Given the description of an element on the screen output the (x, y) to click on. 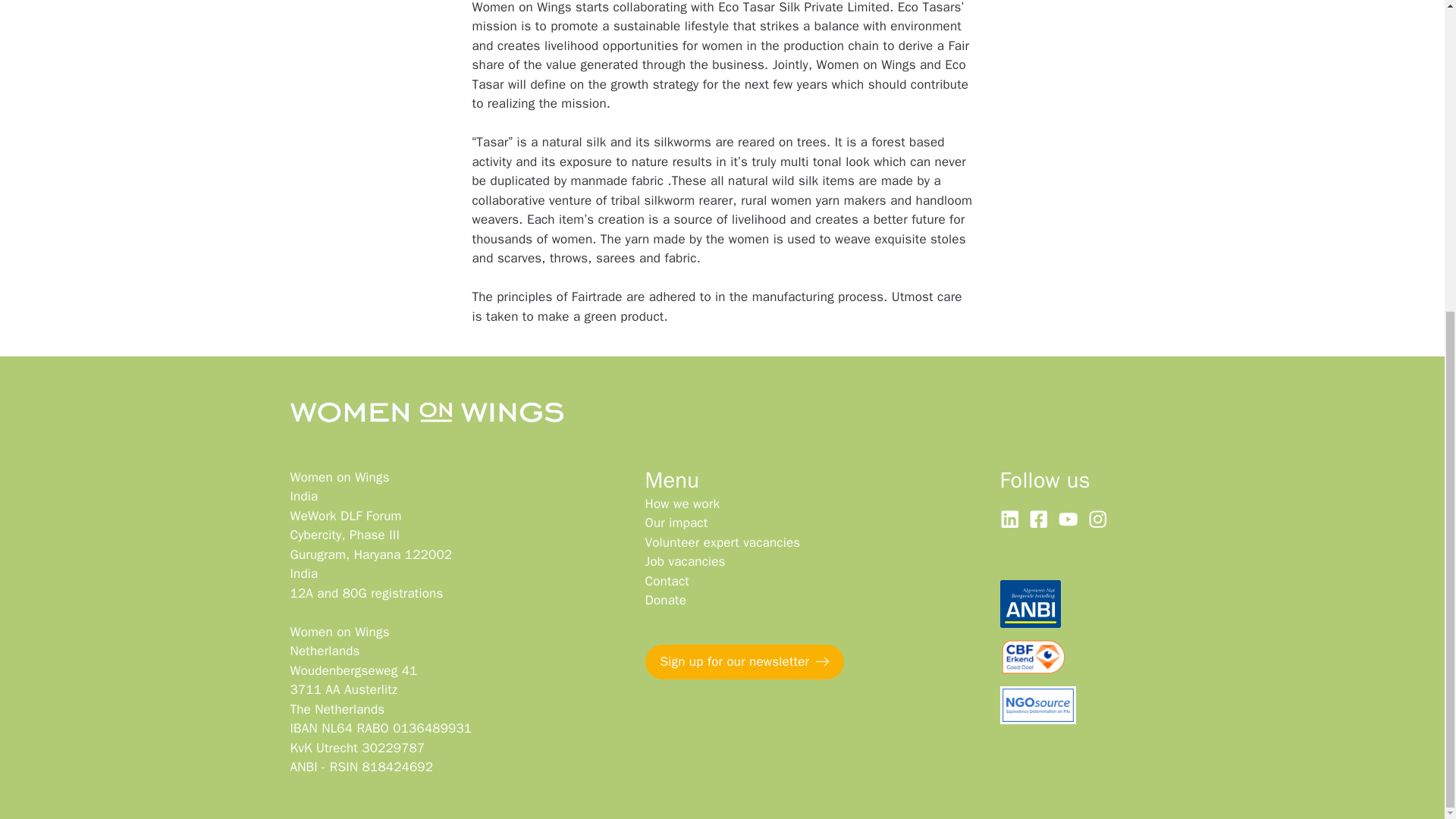
Contact (666, 580)
3-Arrow Right (821, 661)
ED-on-file-badge (1036, 704)
Our impact (676, 522)
anbi-algemeen-nut-beogende-instelling (1028, 603)
How we work (744, 661)
Job vacancies (682, 503)
Volunteer expert vacancies (685, 561)
Donate (722, 542)
